Given the description of an element on the screen output the (x, y) to click on. 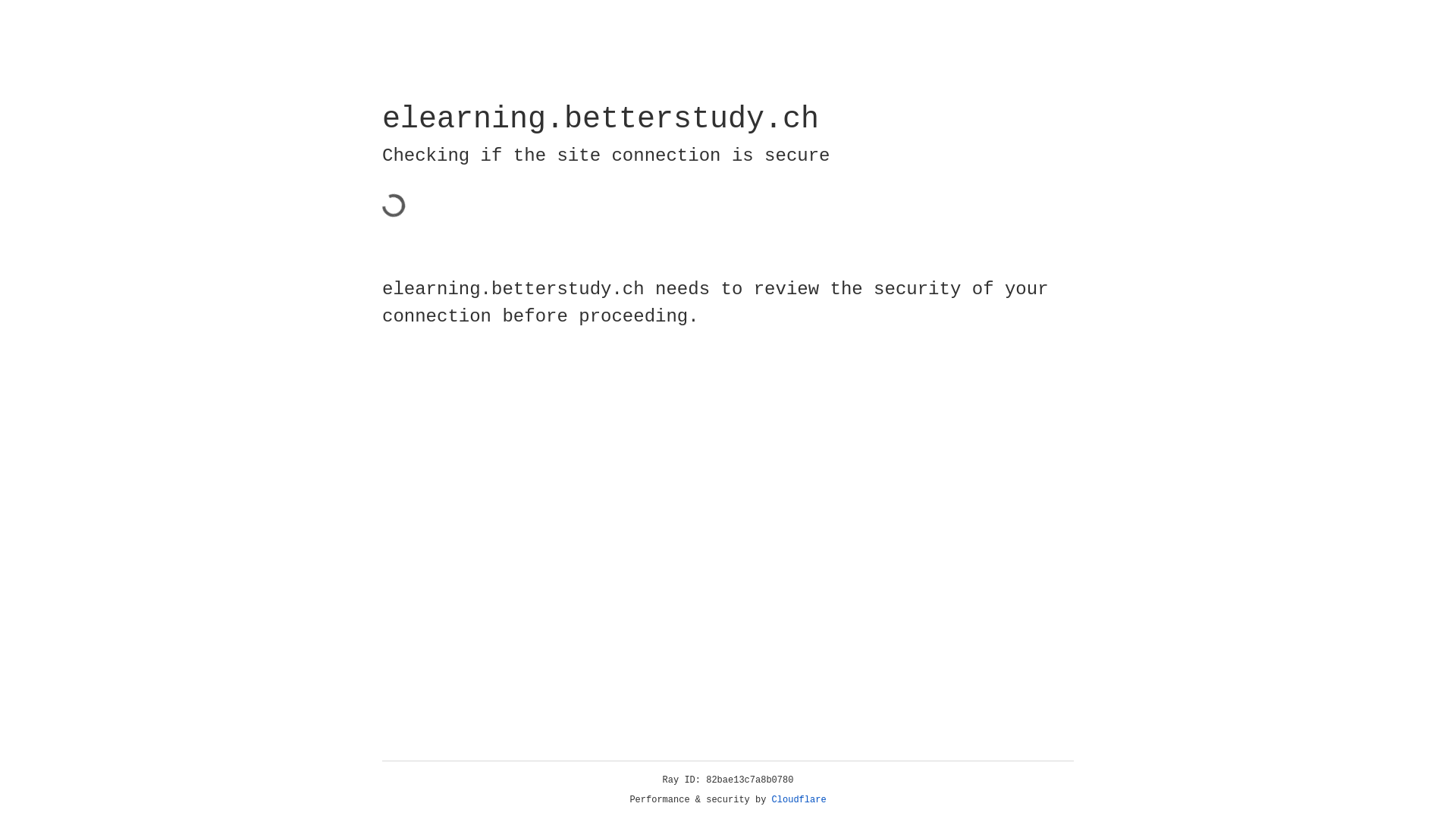
Cloudflare Element type: text (798, 799)
